Given the description of an element on the screen output the (x, y) to click on. 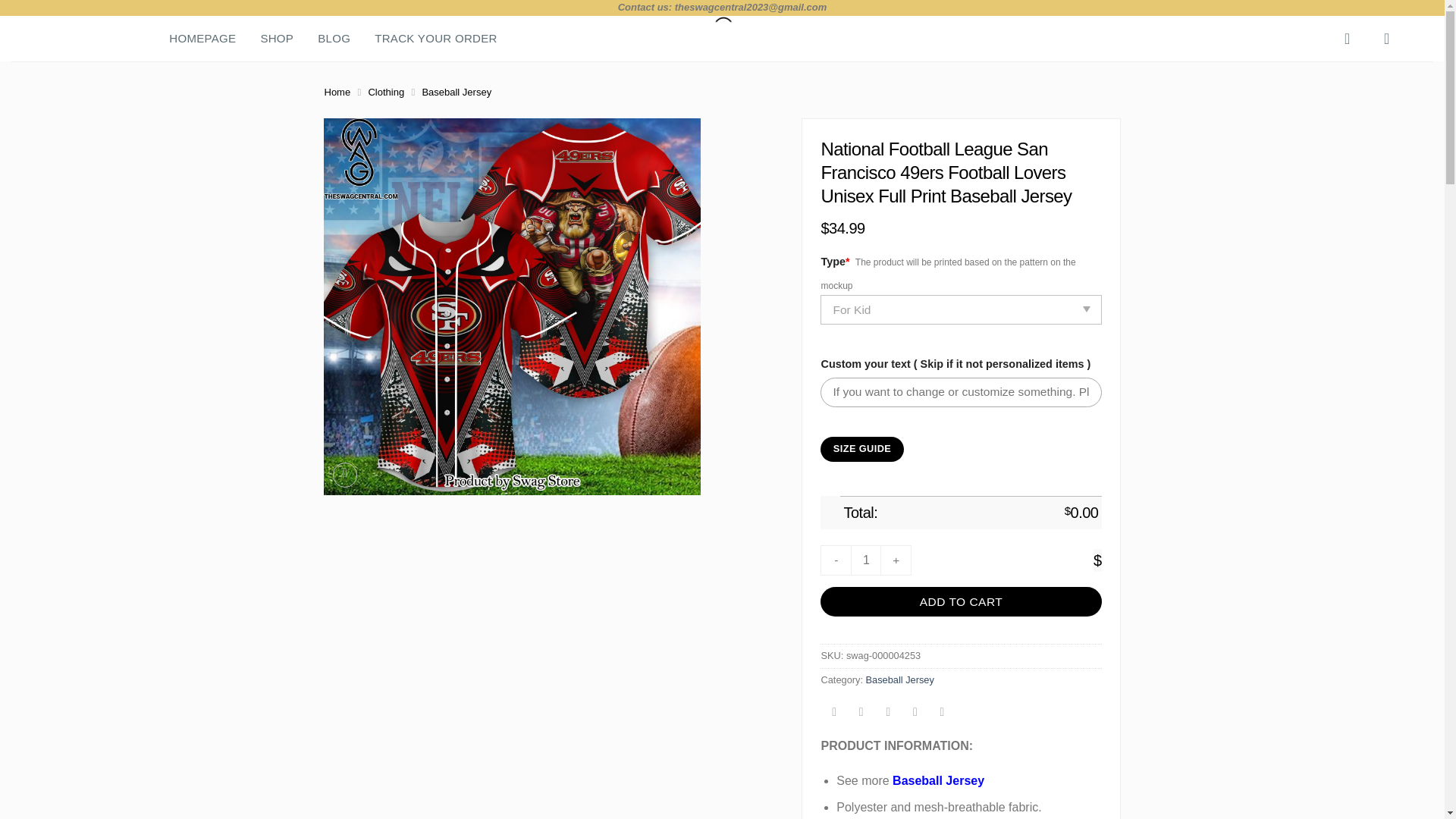
BLOG (333, 38)
SHOP (277, 38)
Email to a Friend (888, 713)
Baseball Jersey (938, 780)
Zoom (345, 474)
1 (865, 560)
TRACK YOUR ORDER (435, 38)
- (835, 560)
Share on Facebook (834, 713)
Share on Twitter (861, 713)
